Given the description of an element on the screen output the (x, y) to click on. 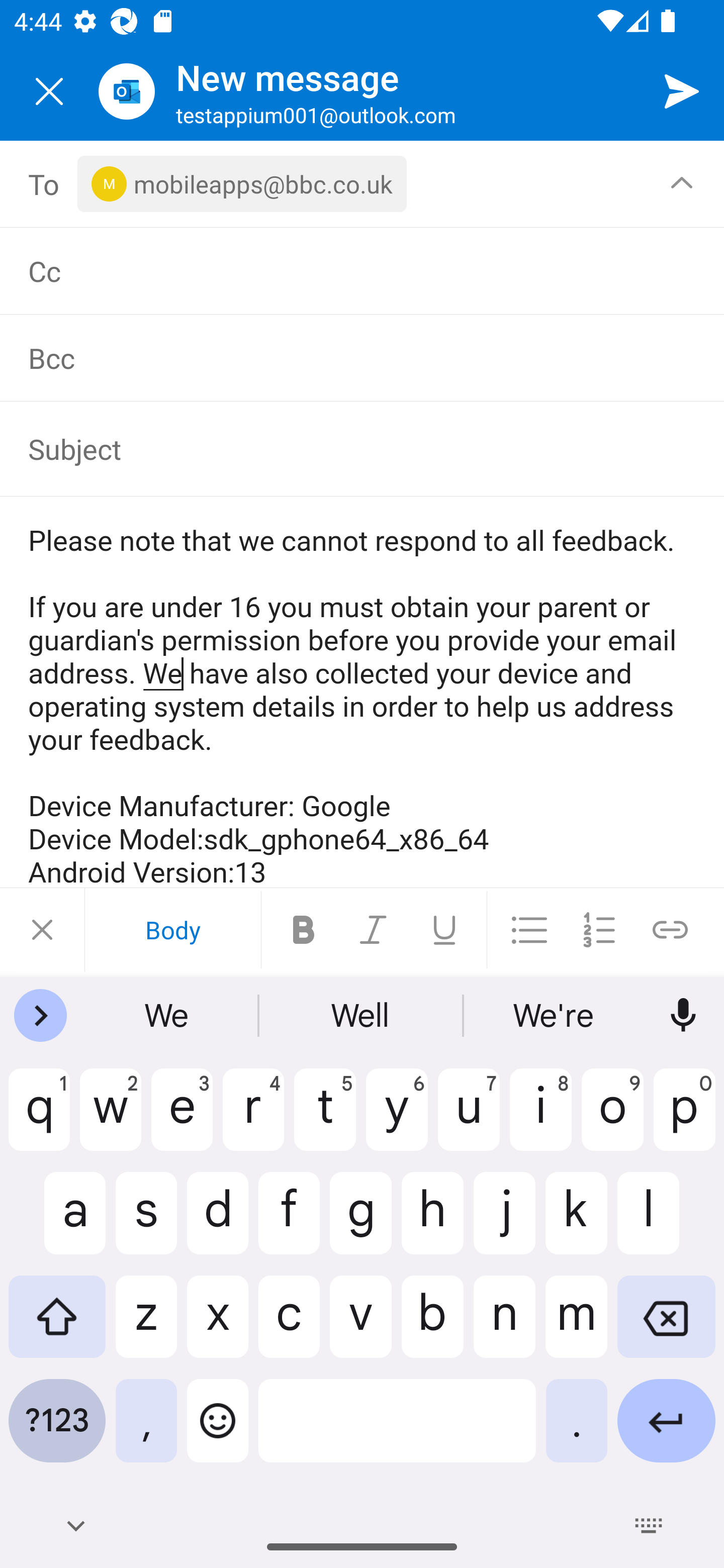
Close (49, 91)
Send (681, 90)
To, 1 recipient <mobileapps@bbc.co.uk> (362, 184)
Subject (347, 448)
Close (42, 929)
Font style button body Body (172, 929)
Bold (303, 929)
Italics (374, 929)
Underline (444, 929)
Bulleted list (529, 929)
Numbered list (599, 929)
Add link (670, 929)
